Given the description of an element on the screen output the (x, y) to click on. 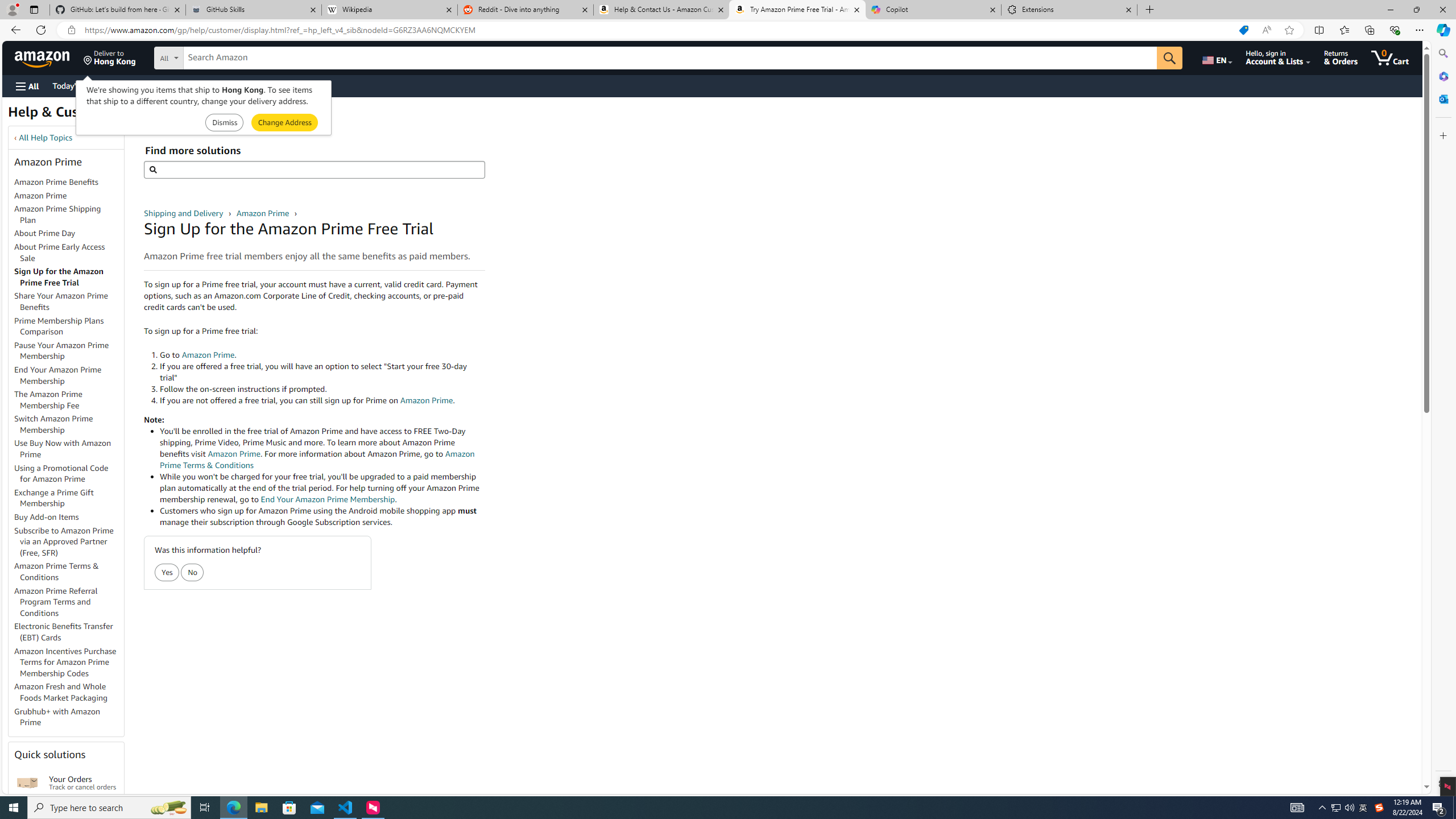
Help & Contact Us - Amazon Customer Service (660, 9)
Using a Promotional Code for Amazon Prime (68, 473)
Use Buy Now with Amazon Prime (63, 449)
Restore (1416, 9)
Follow the on-screen instructions if prompted. (322, 389)
Amazon Prime Referral Program Terms and Conditions (55, 601)
Amazon Prime Shipping Plan (68, 214)
Using a Promotional Code for Amazon Prime (61, 473)
Split screen (1318, 29)
Settings (1442, 783)
The Amazon Prime Membership Fee (48, 399)
Search in (210, 58)
Prime Membership Plans Comparison (68, 326)
Grubhub+ with Amazon Prime (68, 716)
